Given the description of an element on the screen output the (x, y) to click on. 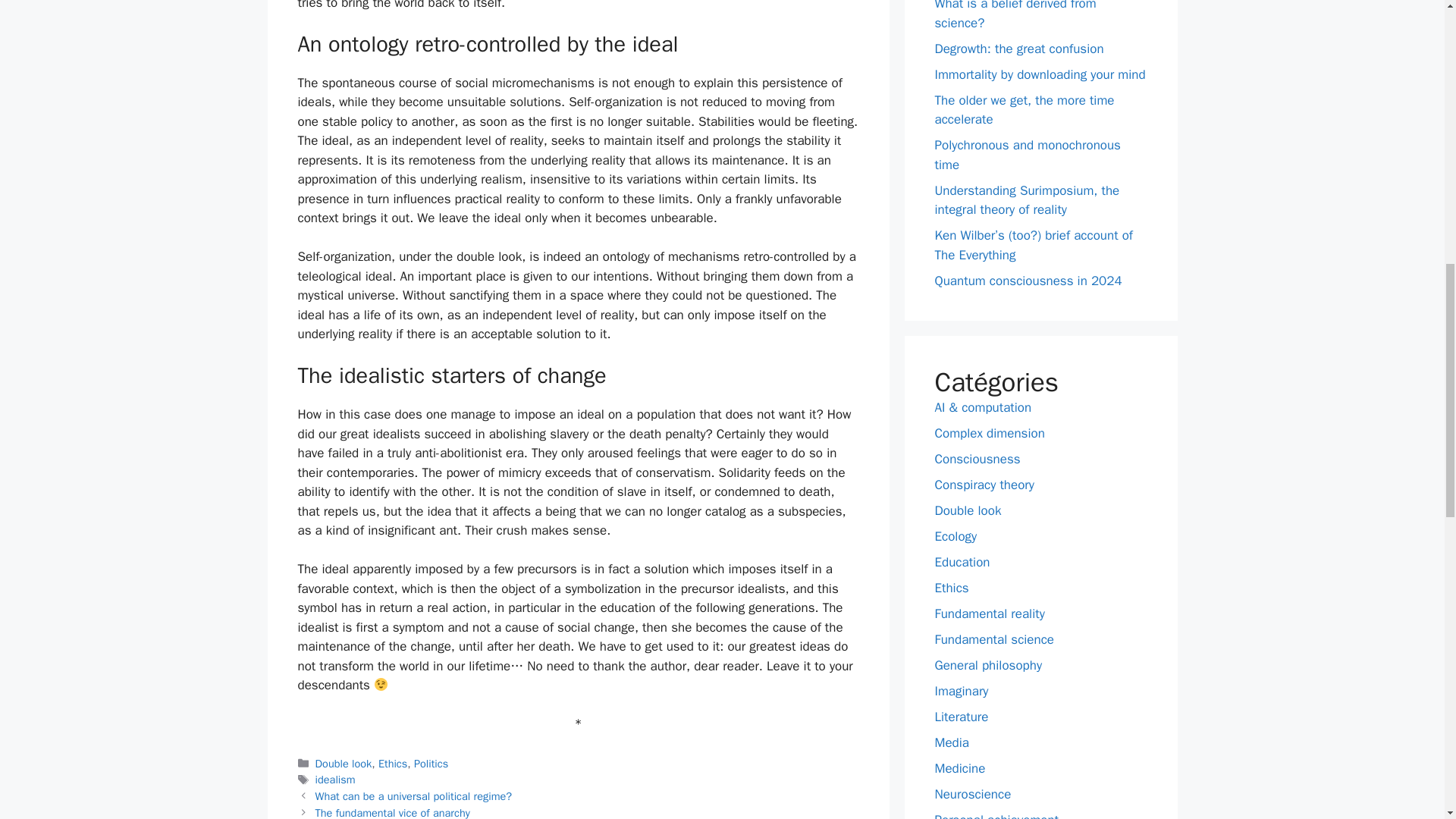
Double look (343, 763)
Politics (430, 763)
What can be a universal political regime? (413, 796)
idealism (335, 779)
What is a belief derived from science? (1015, 15)
Degrowth: the great confusion (1018, 48)
Ethics (392, 763)
Immortality by downloading your mind (1039, 74)
The fundamental vice of anarchy (392, 812)
